Given the description of an element on the screen output the (x, y) to click on. 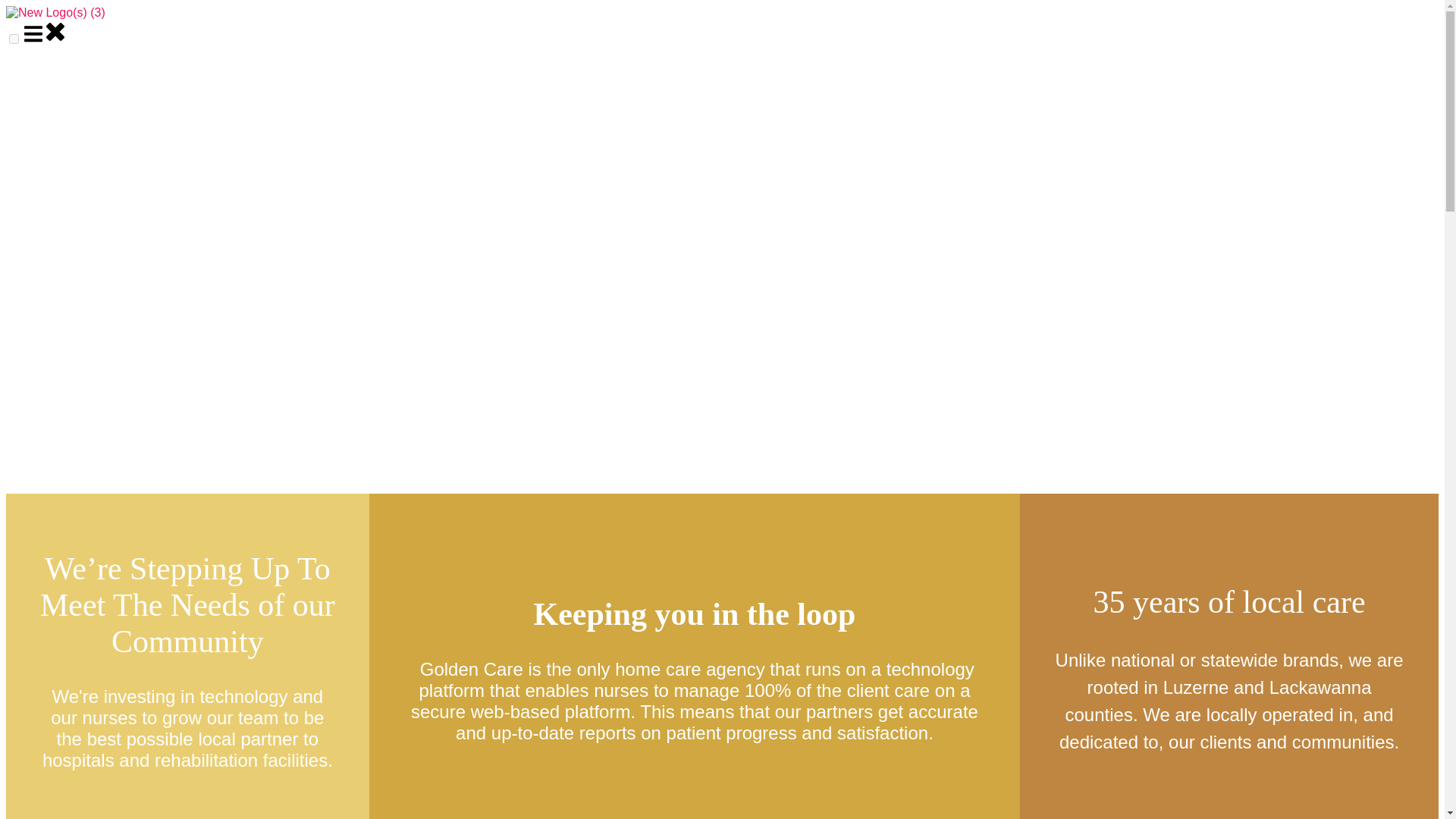
on (13, 39)
